Given the description of an element on the screen output the (x, y) to click on. 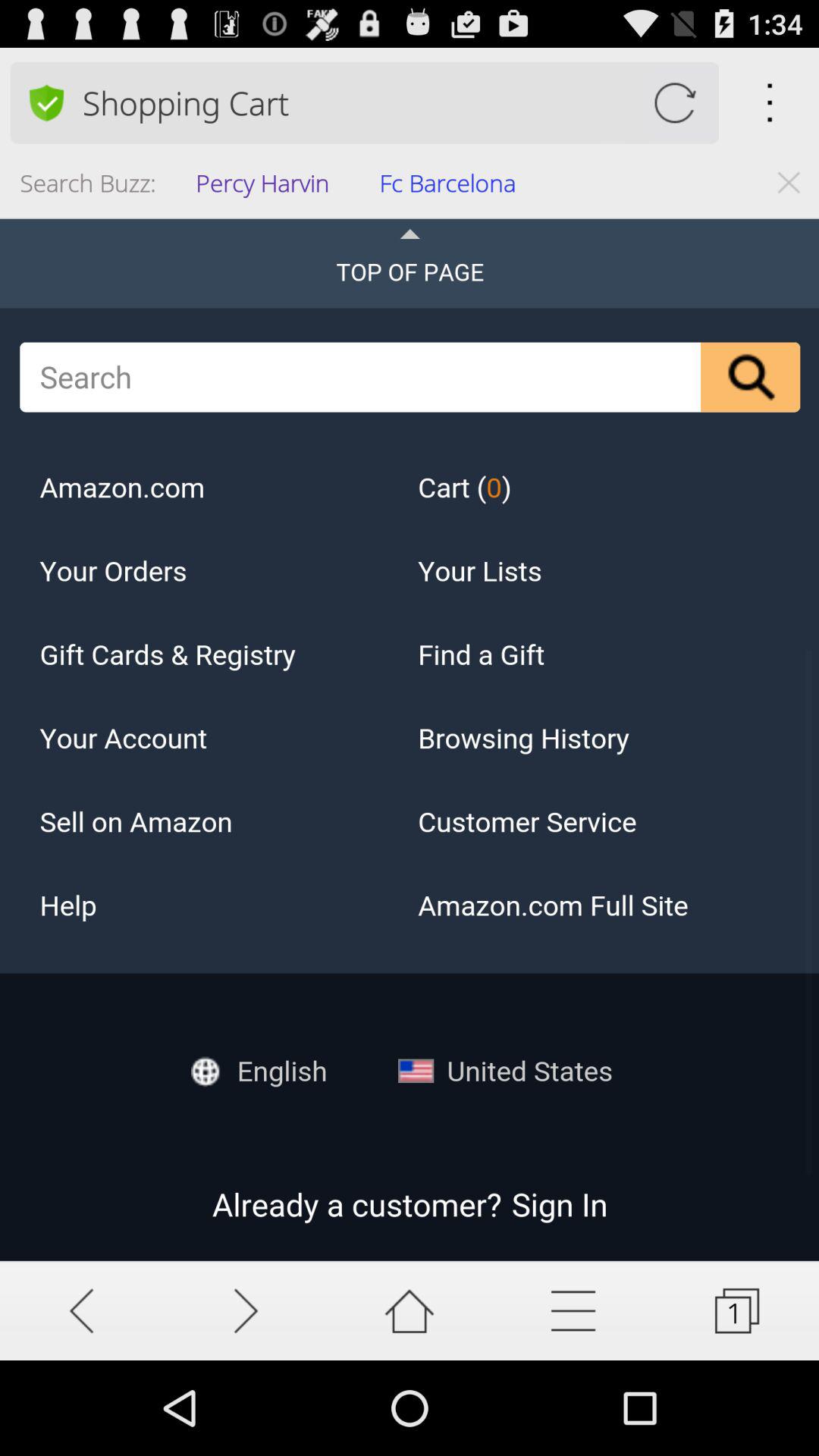
show options (573, 1310)
